Given the description of an element on the screen output the (x, y) to click on. 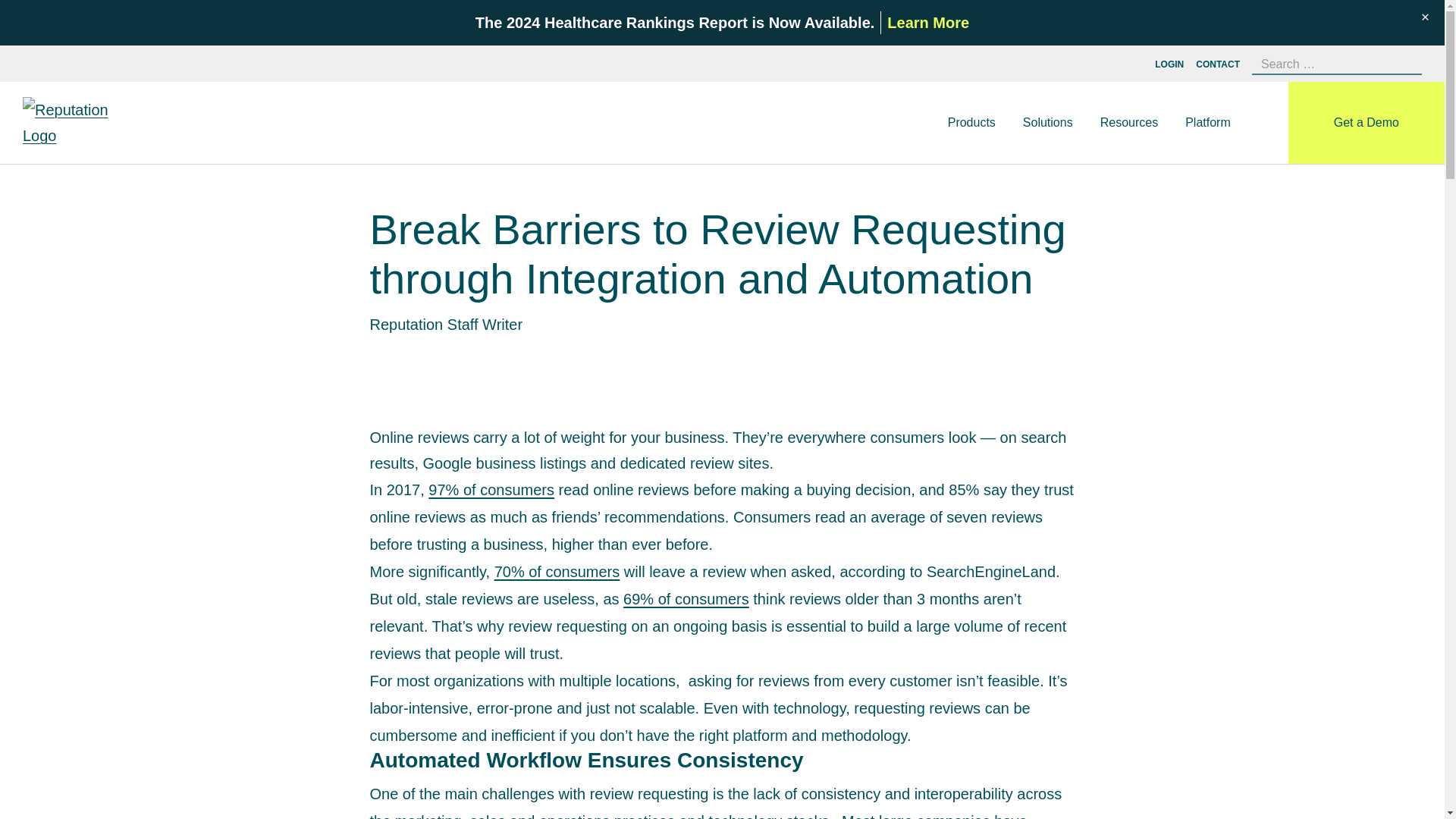
Reputation (79, 122)
Resources (1129, 122)
Products (971, 122)
LOGIN (1168, 63)
Solutions (1047, 122)
CONTACT (1217, 63)
